Given the description of an element on the screen output the (x, y) to click on. 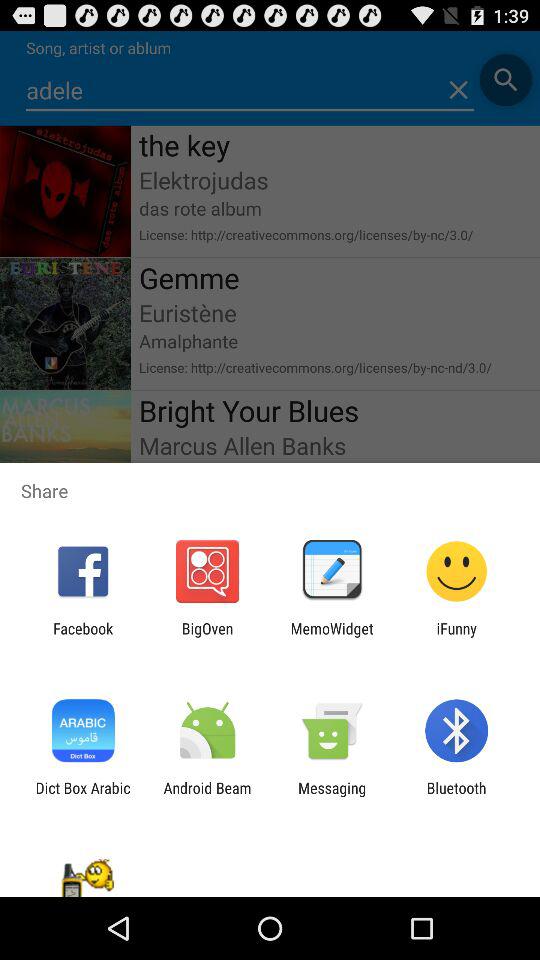
select facebook icon (83, 637)
